Given the description of an element on the screen output the (x, y) to click on. 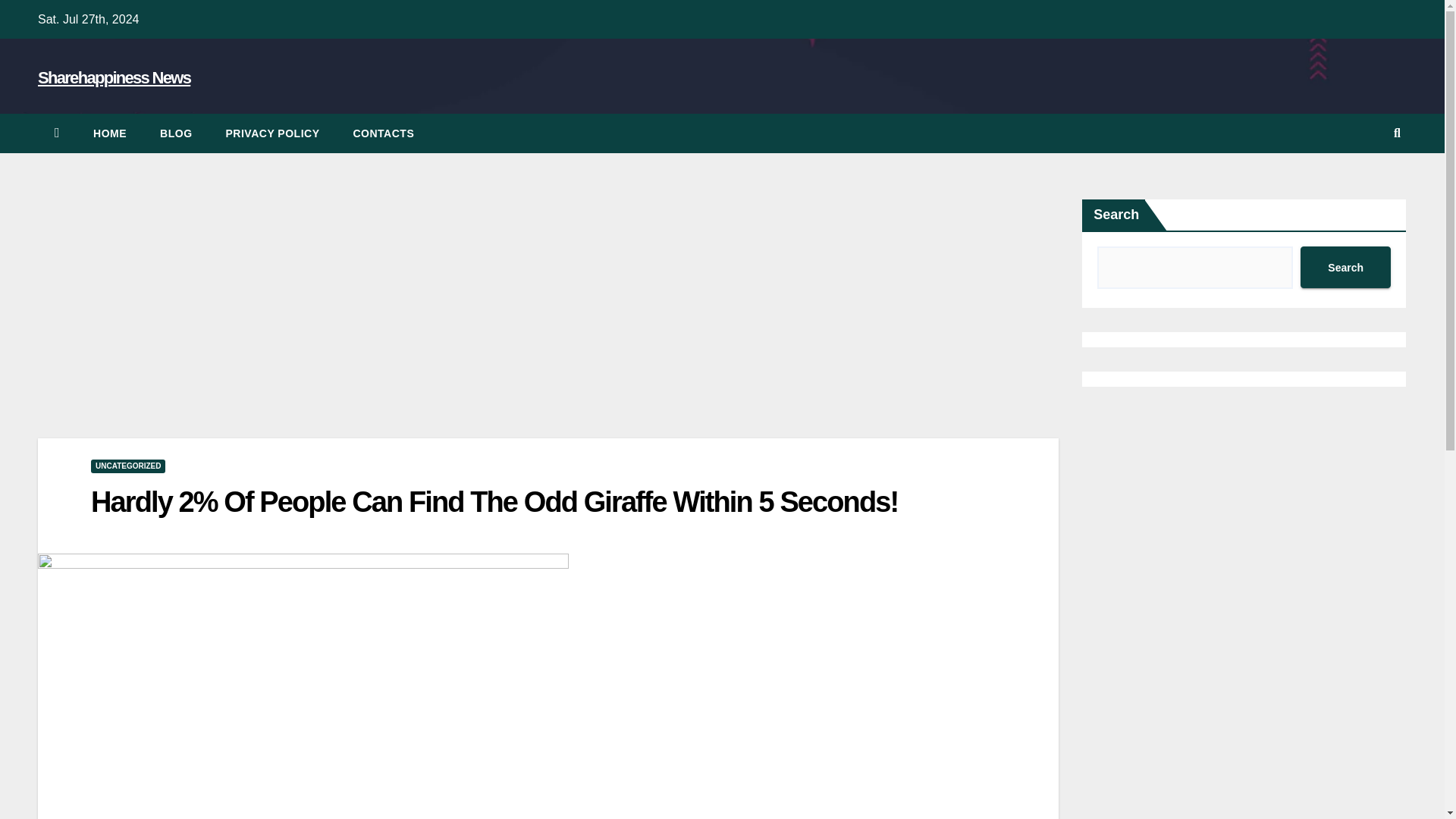
UNCATEGORIZED (127, 466)
Home (109, 133)
Privacy Policy (272, 133)
PRIVACY POLICY (272, 133)
Sharehappiness News (113, 76)
BLOG (175, 133)
Contacts (383, 133)
CONTACTS (383, 133)
Blog (175, 133)
HOME (109, 133)
Search (1345, 267)
